Given the description of an element on the screen output the (x, y) to click on. 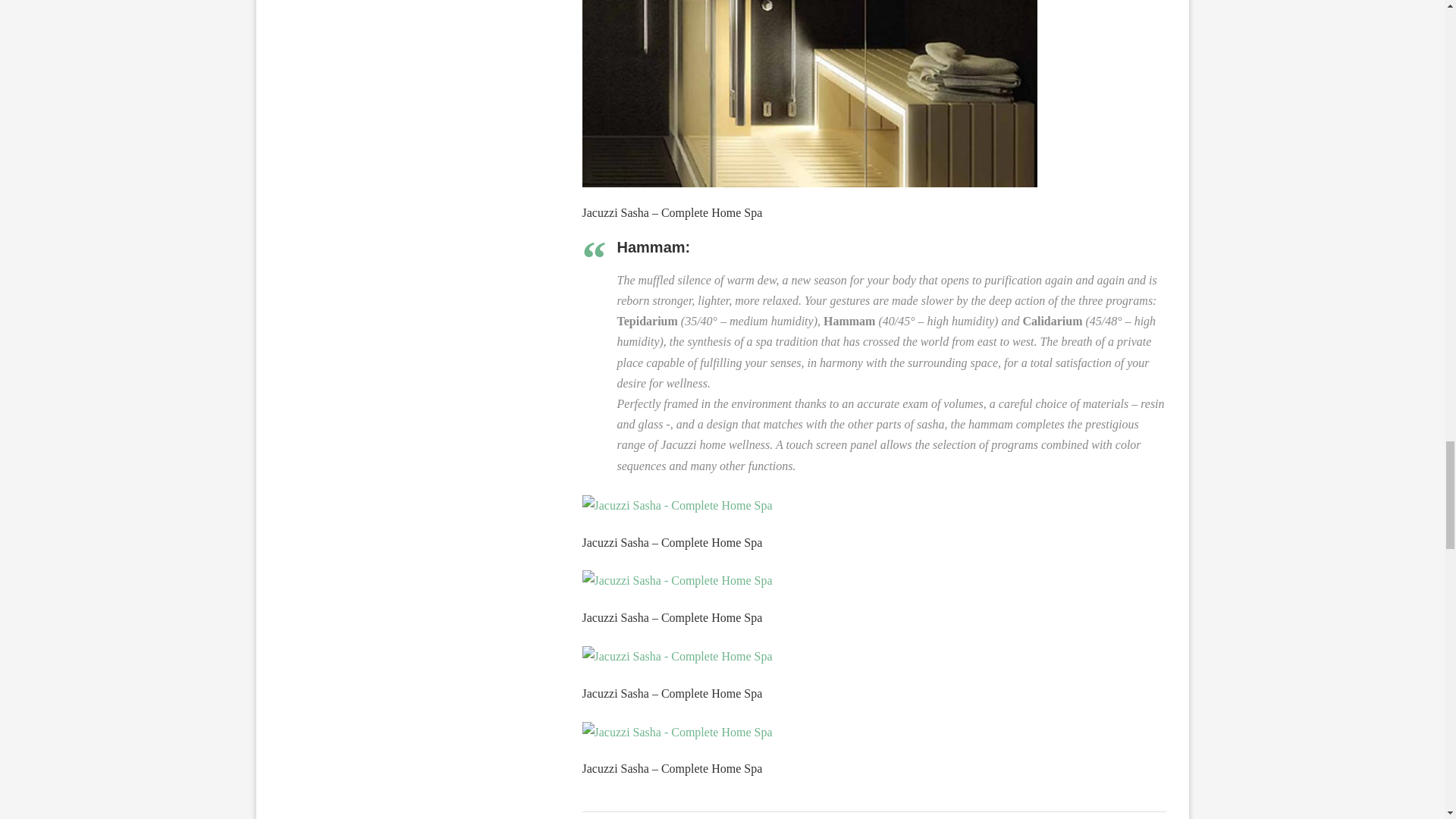
Jacuzzi Sasha - Complete Home Spa (677, 505)
Jacuzzi Sasha - Complete Home Spa (684, 501)
Jacuzzi Sasha - Complete Home Spa (809, 93)
